Given the description of an element on the screen output the (x, y) to click on. 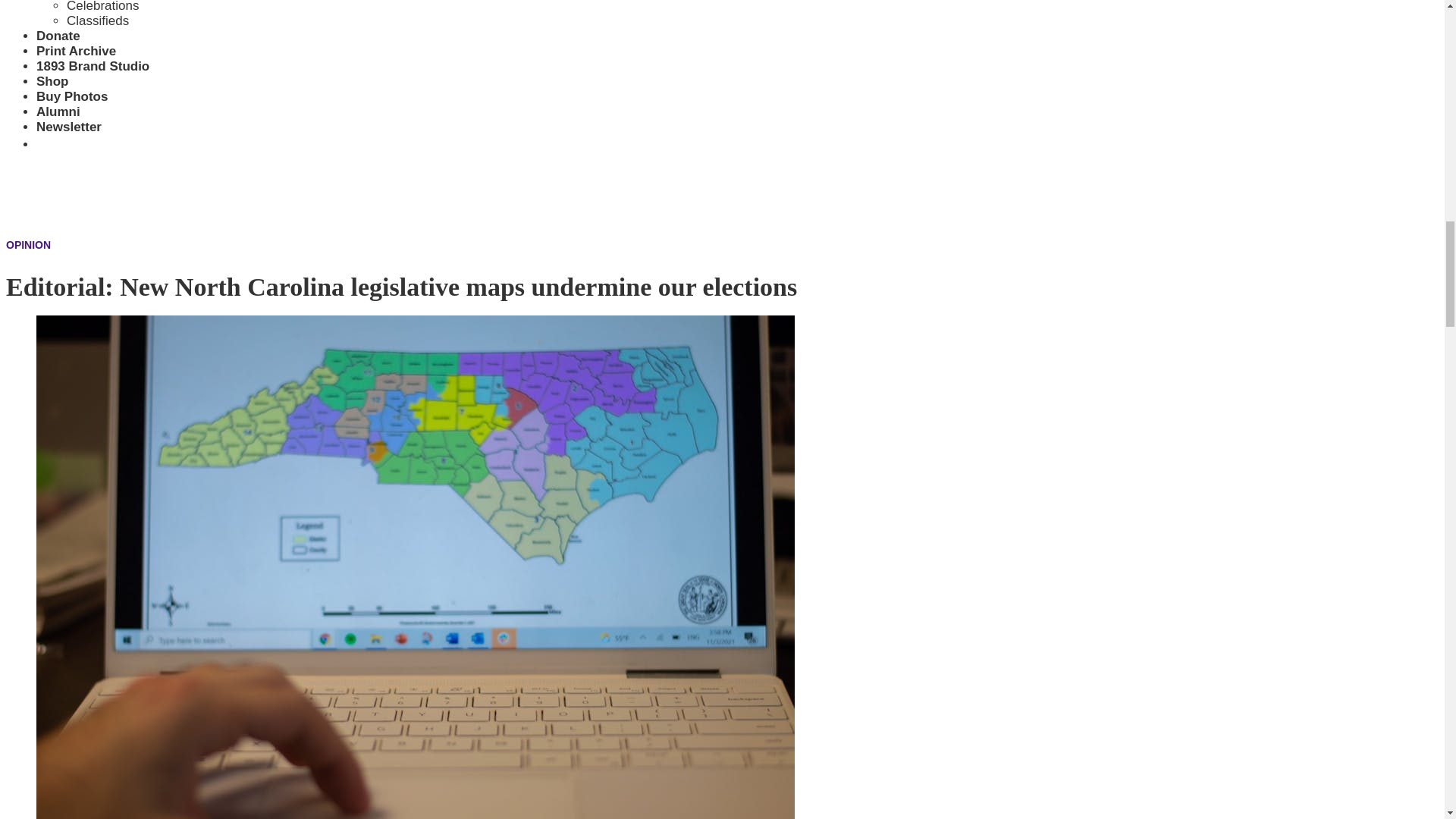
Shop (52, 81)
Print Archive (76, 51)
1893 Brand Studio (92, 65)
Newsletter (68, 126)
Donate (58, 35)
Alumni (58, 111)
Buy Photos (71, 96)
